Given the description of an element on the screen output the (x, y) to click on. 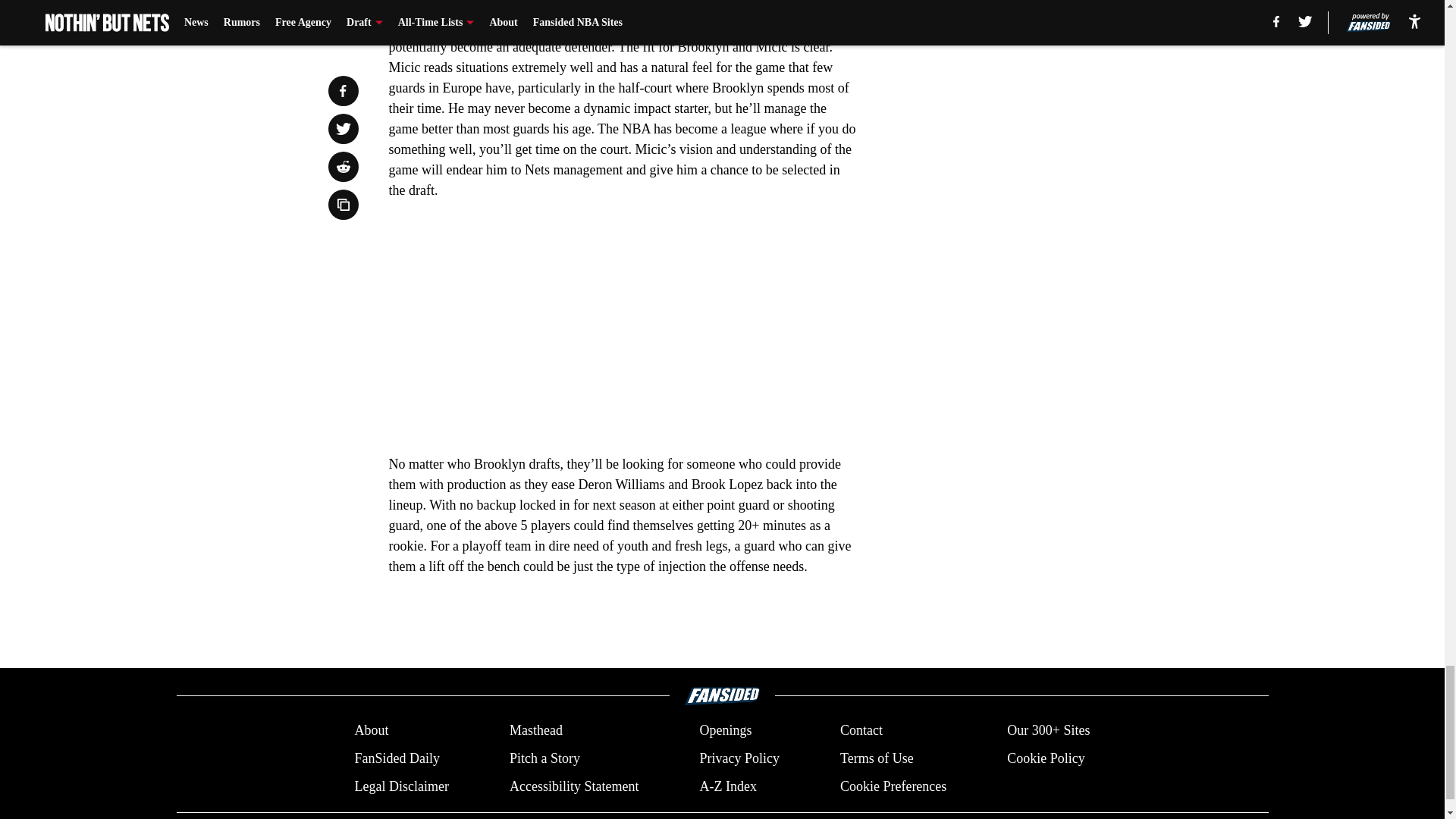
Pitch a Story (544, 758)
Openings (724, 730)
Legal Disclaimer (400, 786)
FanSided Daily (396, 758)
Terms of Use (877, 758)
Cookie Preferences (893, 786)
A-Z Index (726, 786)
Accessibility Statement (574, 786)
About (370, 730)
Cookie Policy (1045, 758)
